Given the description of an element on the screen output the (x, y) to click on. 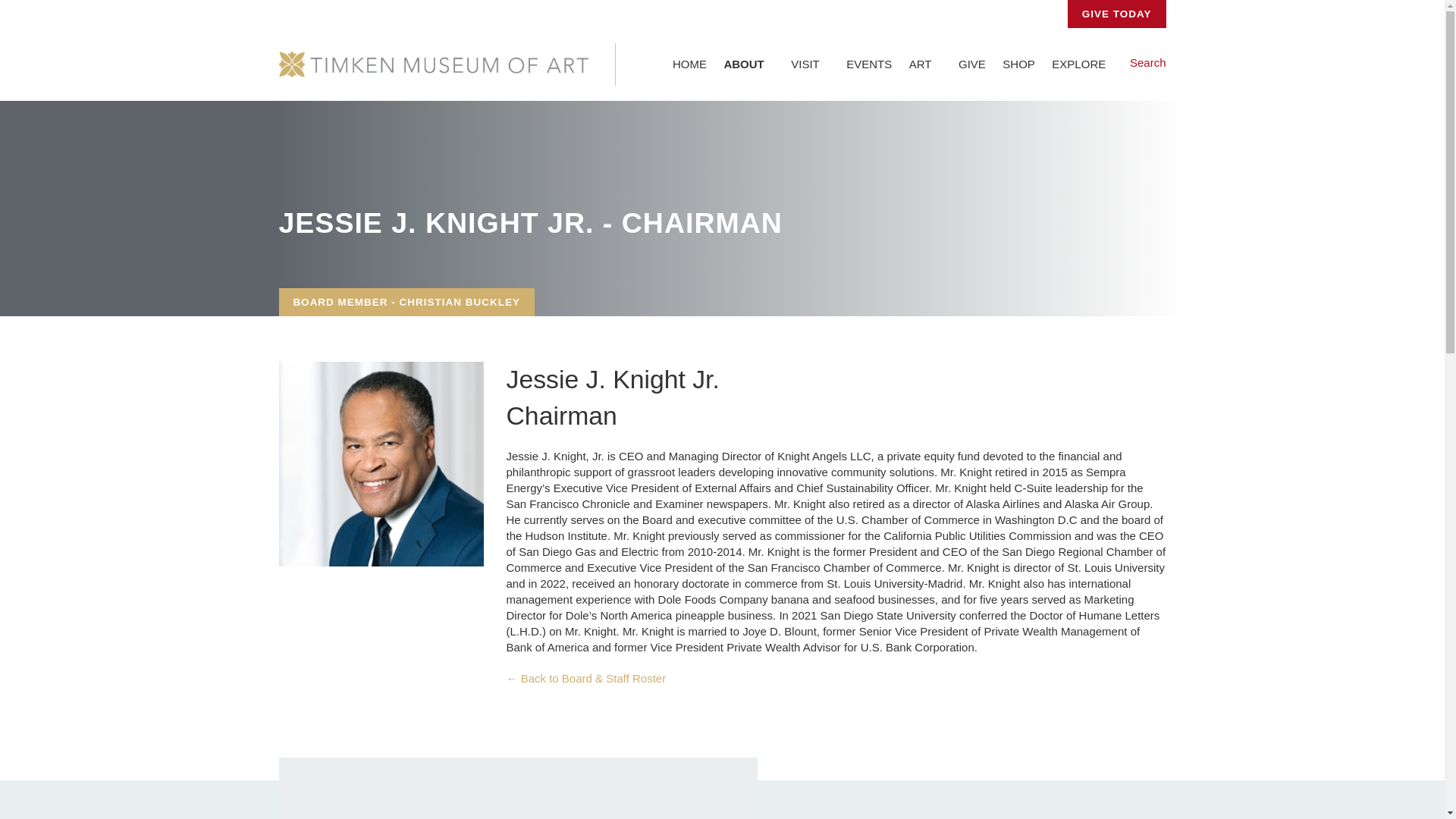
BOARD MEMBER - CHRISTIAN BUCKLEY (407, 302)
HOME (689, 64)
GIVE TODAY (1116, 13)
GIVE (972, 64)
EXPLORE (1083, 64)
SHOP (1018, 64)
Search (1145, 62)
EVENTS (869, 64)
ART (925, 64)
ABOUT (748, 64)
VISIT (810, 64)
